Given the description of an element on the screen output the (x, y) to click on. 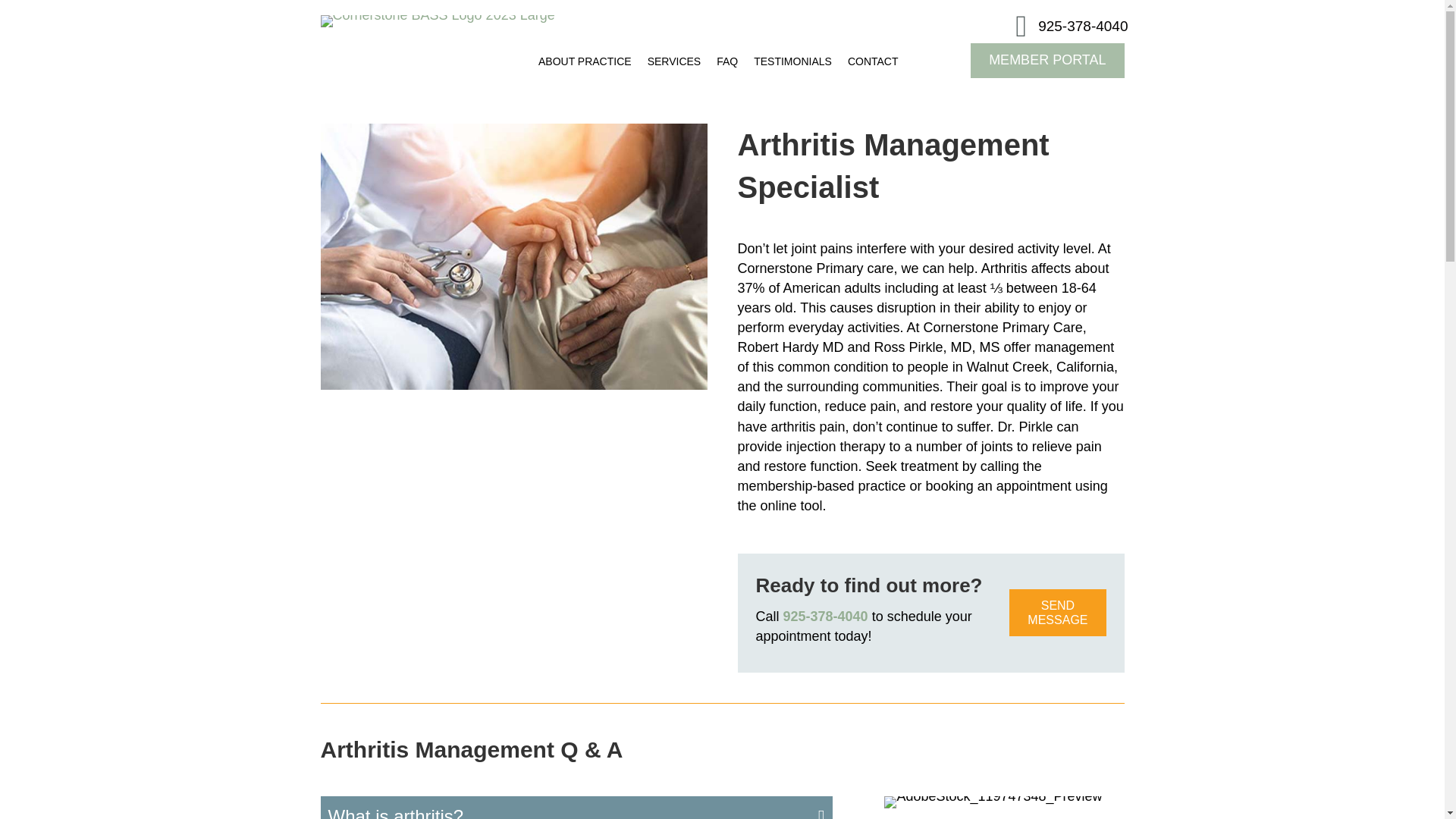
SEND MESSAGE (1057, 612)
CONTACT (872, 61)
Cornerstone BASS Logo 2023 Large (437, 21)
Arthritis Management (513, 256)
SERVICES (674, 61)
925-378-4040 (825, 616)
ABOUT PRACTICE (585, 61)
FAQ (727, 61)
TESTIMONIALS (792, 61)
925-378-4040 (1082, 26)
